Given the description of an element on the screen output the (x, y) to click on. 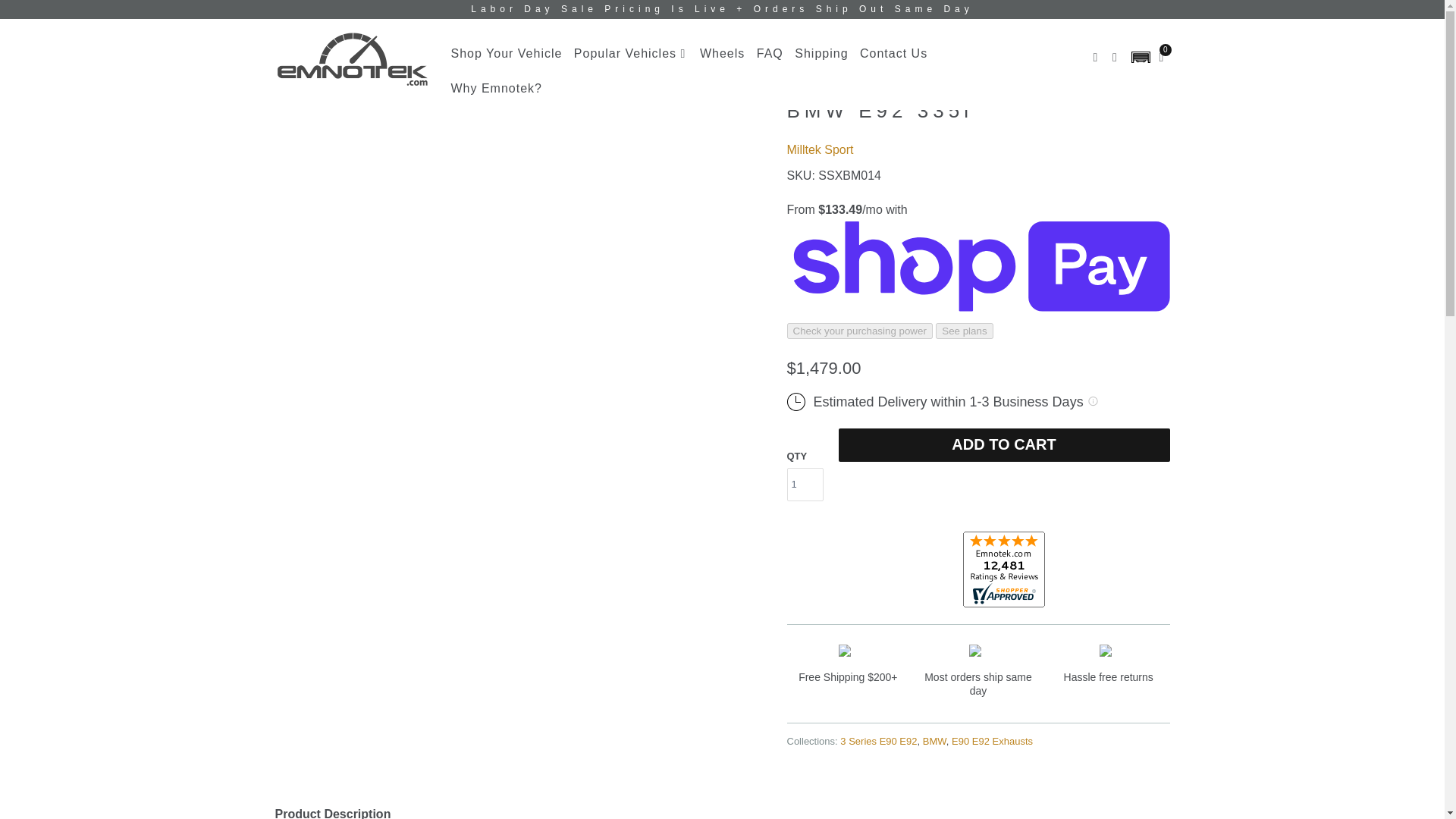
Milltek Sport (820, 149)
Emnotek (352, 59)
3 Series E90 E92 (878, 740)
Emnotek (289, 31)
BMW (934, 740)
E90  E92 Exhausts (992, 740)
Products (340, 31)
Milltek Catback Exhaust BMW E92 335i (475, 31)
1 (805, 484)
